Given the description of an element on the screen output the (x, y) to click on. 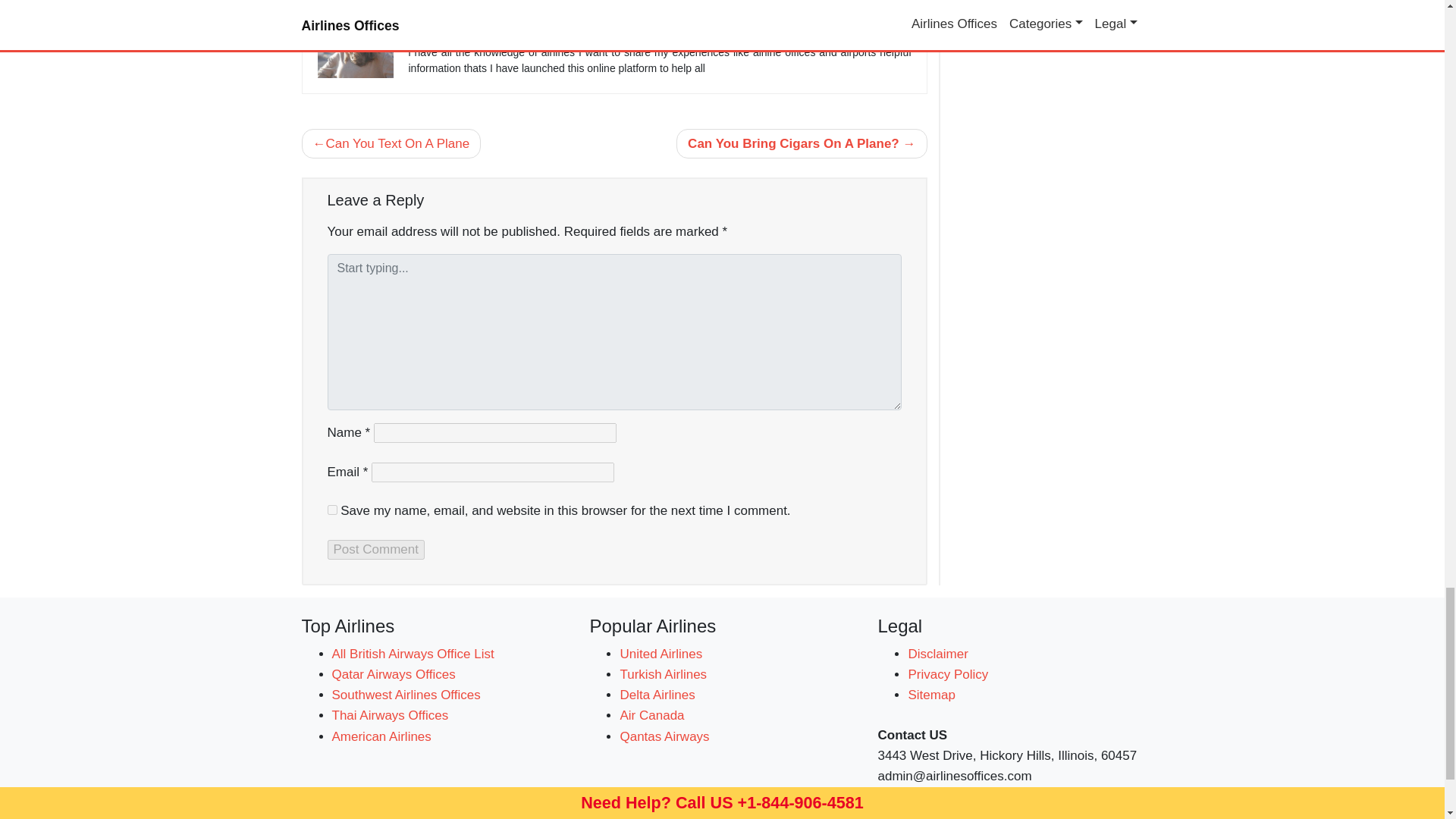
Can You Text On A Plane (391, 143)
Post Comment (376, 549)
Post Comment (376, 549)
yes (332, 510)
